Given the description of an element on the screen output the (x, y) to click on. 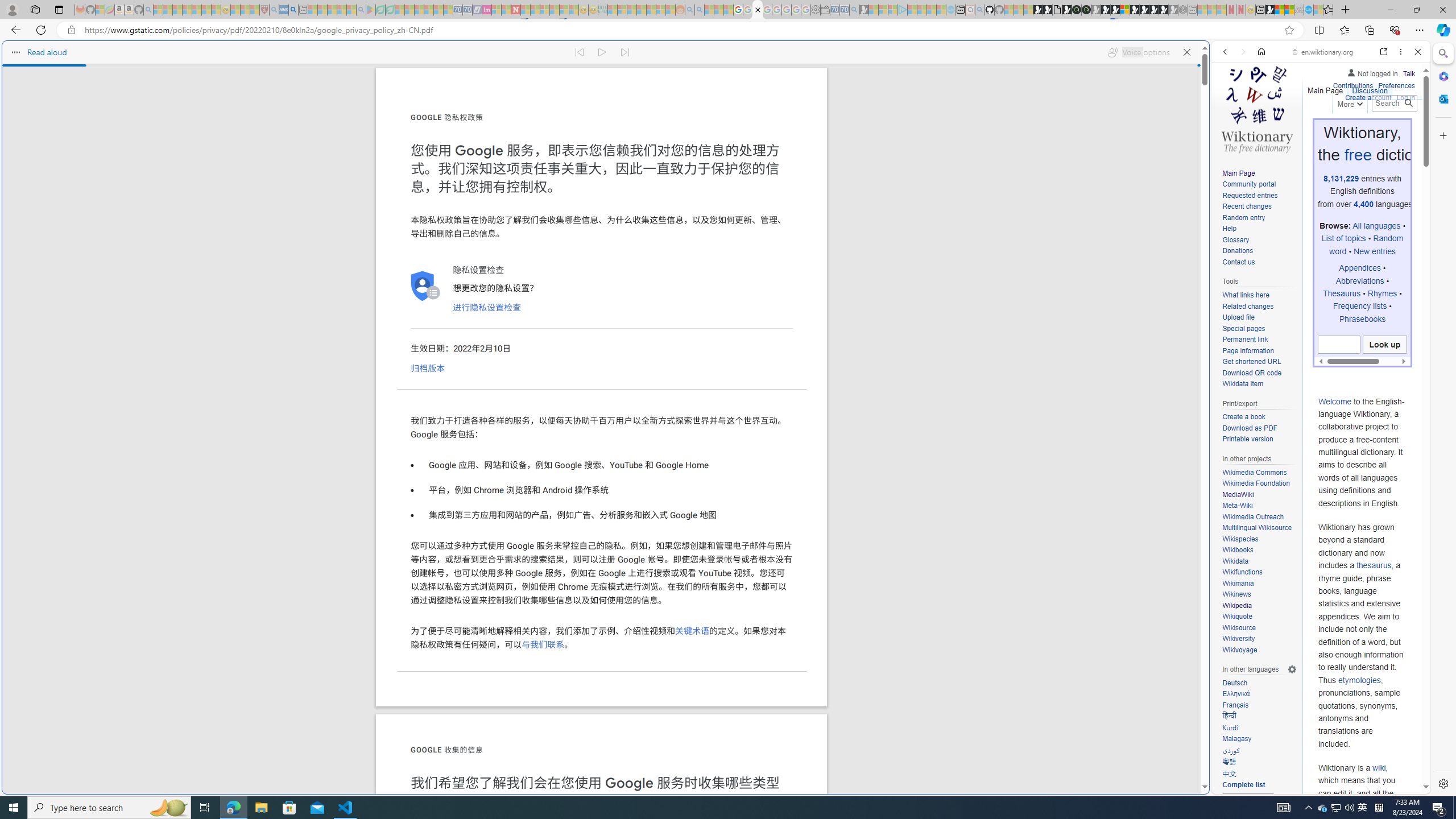
4,400 (1364, 203)
Meta-Wiki (1259, 505)
Wikifunctions (1241, 572)
IMAGES (1262, 130)
Frequently visited (965, 151)
World - MSN (1279, 9)
List of topics (1342, 238)
Web scope (1230, 102)
New entries (1375, 250)
Cheap Hotels - Save70.com - Sleeping (467, 9)
